Given the description of an element on the screen output the (x, y) to click on. 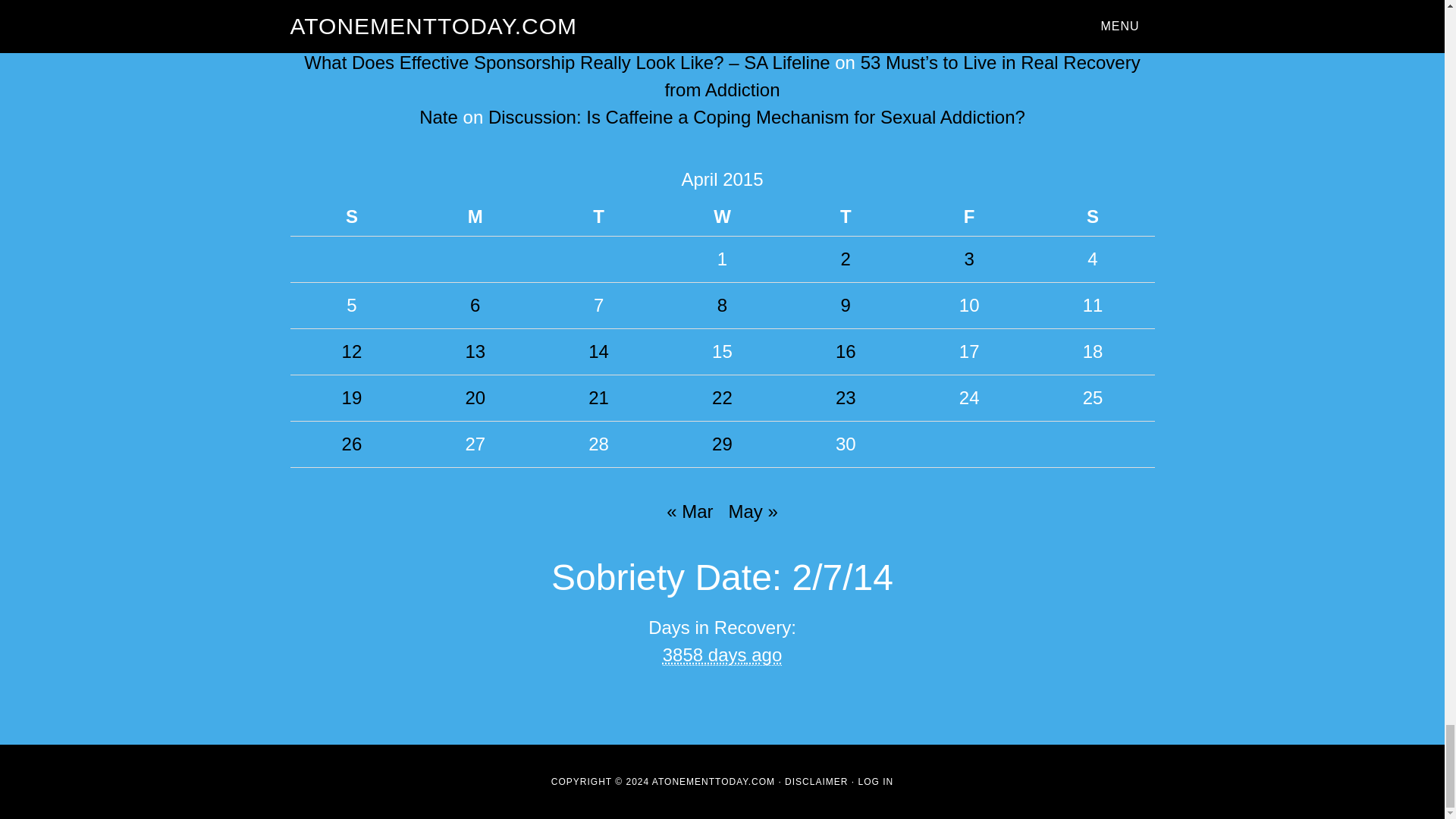
Friday (968, 217)
Thursday (845, 217)
Discussion: How to help a struggling sponsee? (777, 35)
14 (598, 351)
February 7th, 2014, 1:00 am (721, 654)
Sunday (351, 217)
Tuesday (599, 217)
Nate (438, 117)
13 (474, 351)
